Given the description of an element on the screen output the (x, y) to click on. 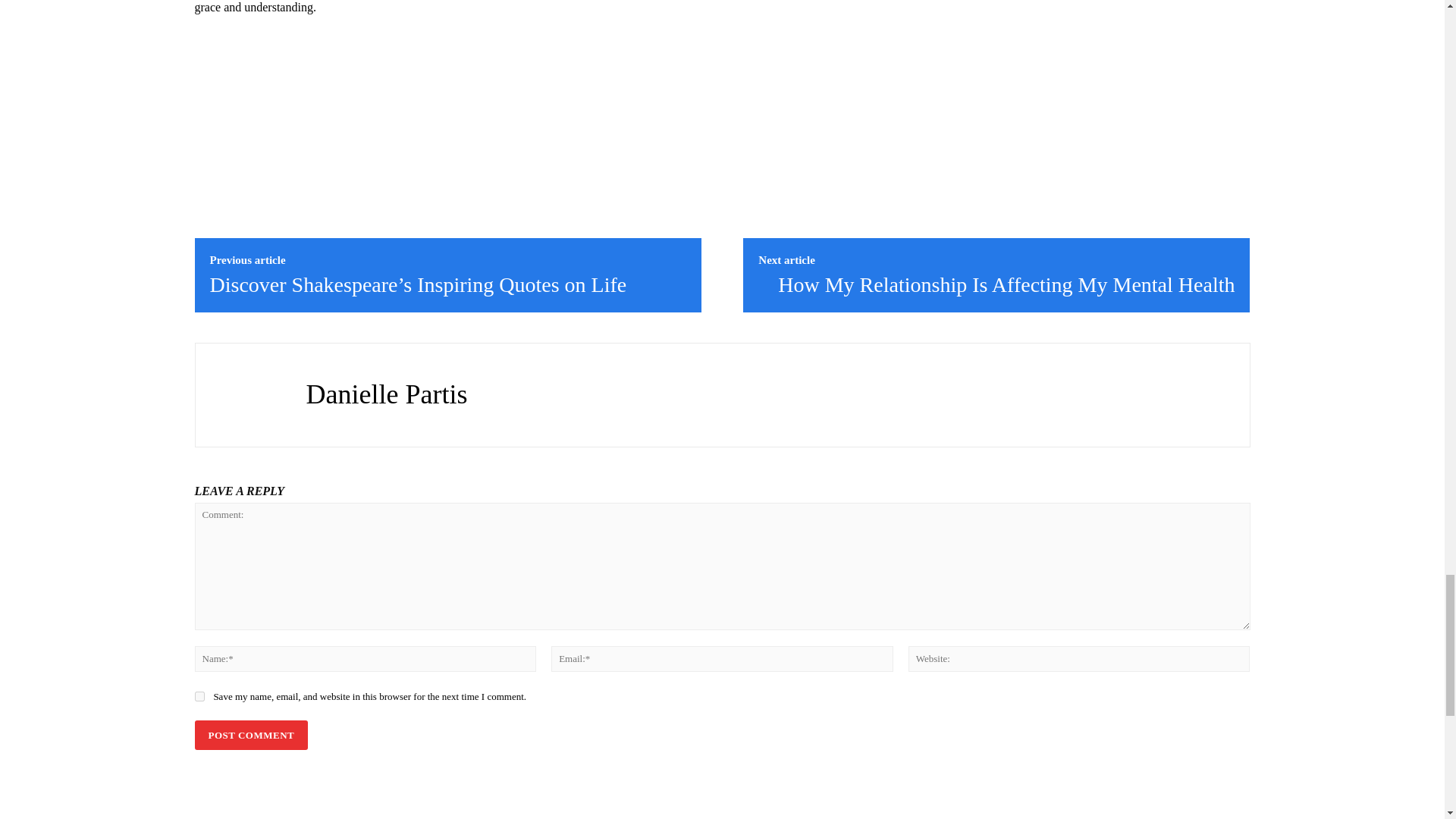
Post Comment (250, 735)
yes (198, 696)
